Given the description of an element on the screen output the (x, y) to click on. 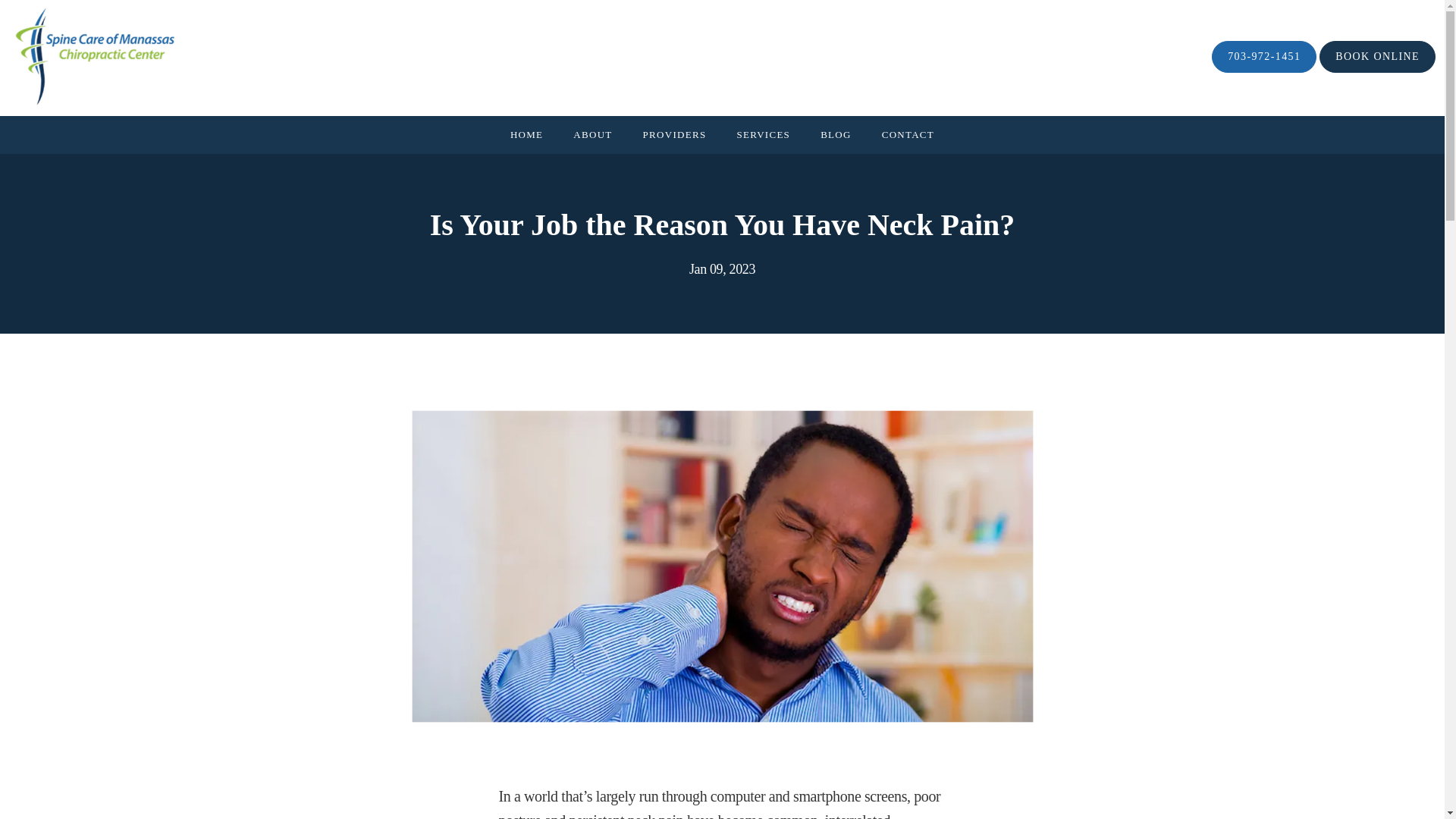
CONTACT (908, 134)
HOME (527, 134)
SERVICES (763, 134)
BLOG (836, 134)
ABOUT (592, 134)
PROVIDERS (674, 134)
703-972-1451 (1263, 57)
BOOK ONLINE (1377, 57)
